Given the description of an element on the screen output the (x, y) to click on. 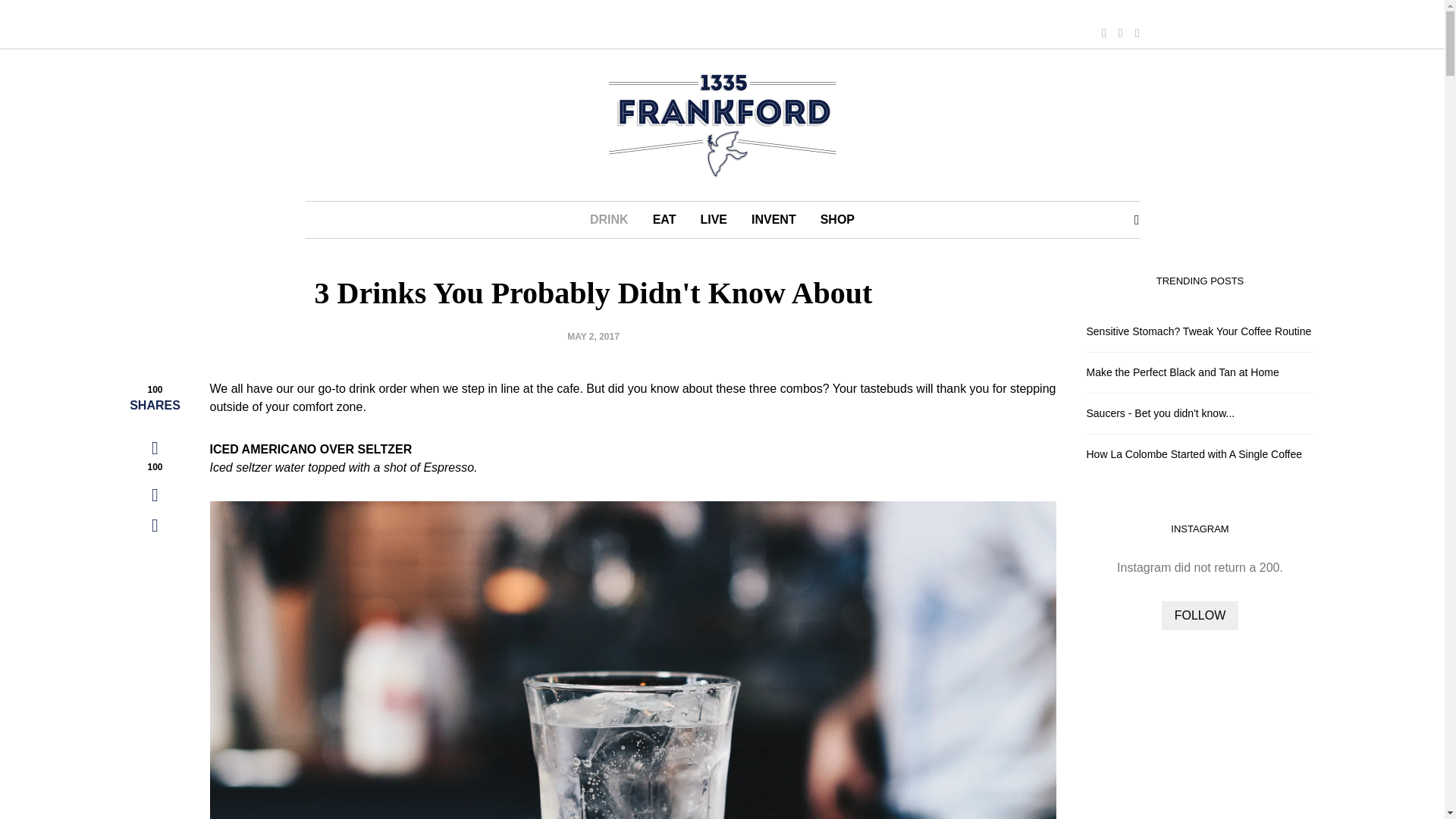
SHOP (837, 219)
INVENT (773, 219)
DRINK (608, 219)
